Given the description of an element on the screen output the (x, y) to click on. 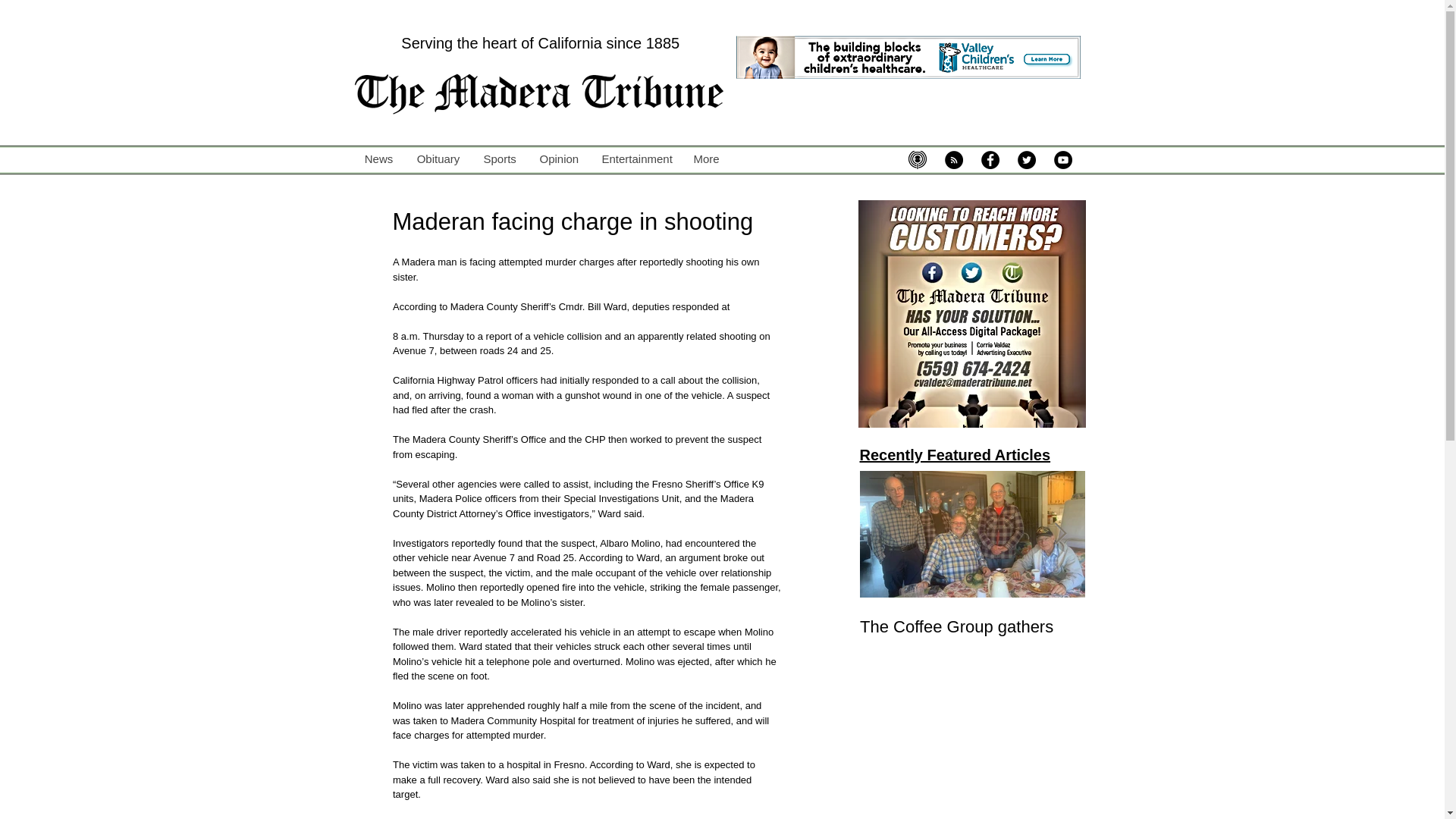
Opinion (972, 594)
The Coffee Group gathers (972, 594)
Entertainment (558, 159)
Big rig runs into back of car (972, 627)
Facebook Like (635, 159)
Obituary (1196, 627)
Sports (755, 190)
News (437, 159)
